Given the description of an element on the screen output the (x, y) to click on. 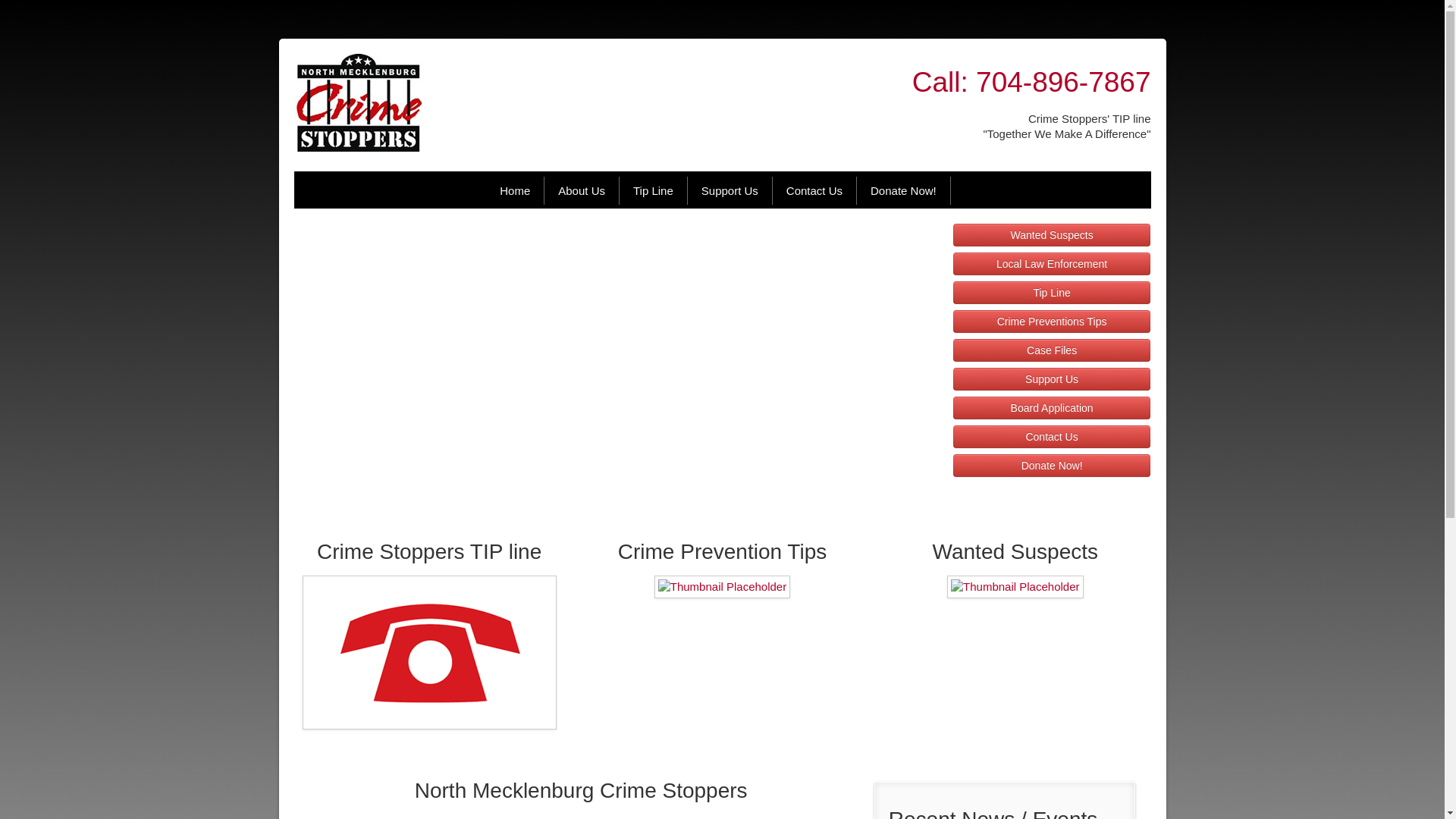
Thumbnail Placeholder (429, 652)
Home (515, 190)
Contact Us (815, 190)
Contact Us (1052, 436)
Contact Us (1052, 436)
Board Application (1052, 407)
Wanted Suspects (1052, 234)
Support Us (1052, 378)
Thumbnail Placeholder (1015, 586)
Case Files (1052, 350)
Support Us (730, 190)
Donate Now! (903, 190)
Local Law Enforcement (1052, 263)
About Us (582, 190)
Wanted Suspects (1052, 234)
